Given the description of an element on the screen output the (x, y) to click on. 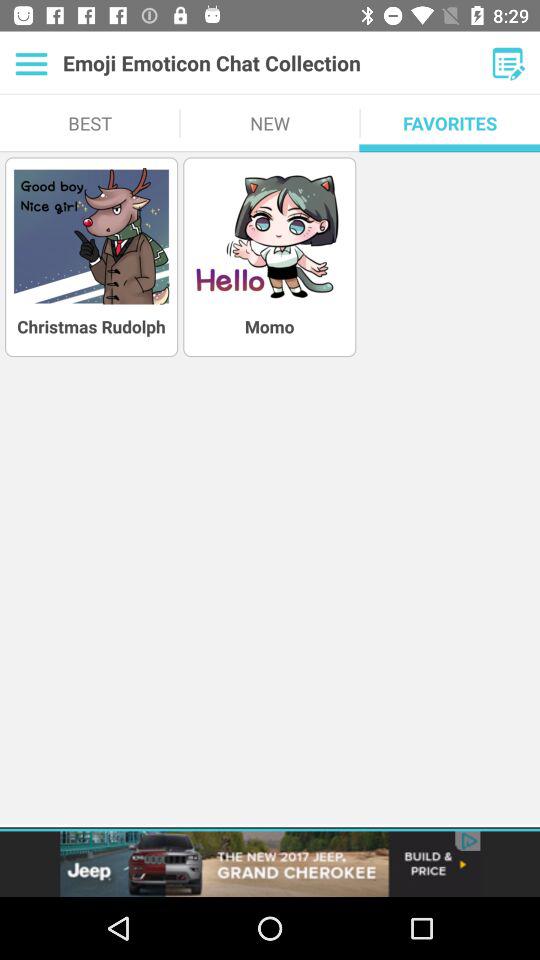
view the advertisement about jeep (270, 864)
